Given the description of an element on the screen output the (x, y) to click on. 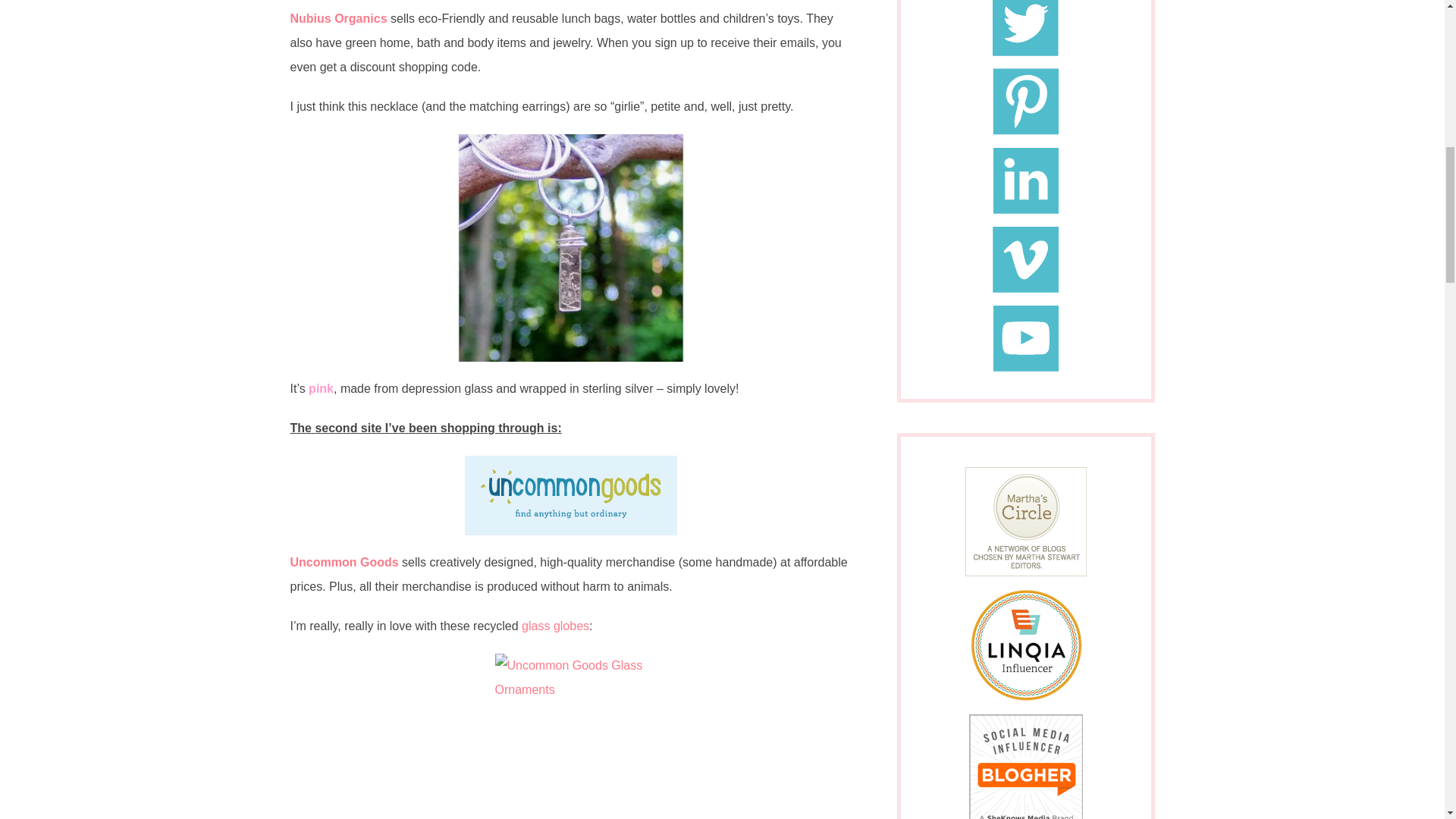
ugLogo (570, 495)
glass globes (555, 625)
Uncommon Goods (343, 562)
treeglobes (570, 729)
dglassnecklace (570, 247)
Nubius Organics (338, 18)
